Given the description of an element on the screen output the (x, y) to click on. 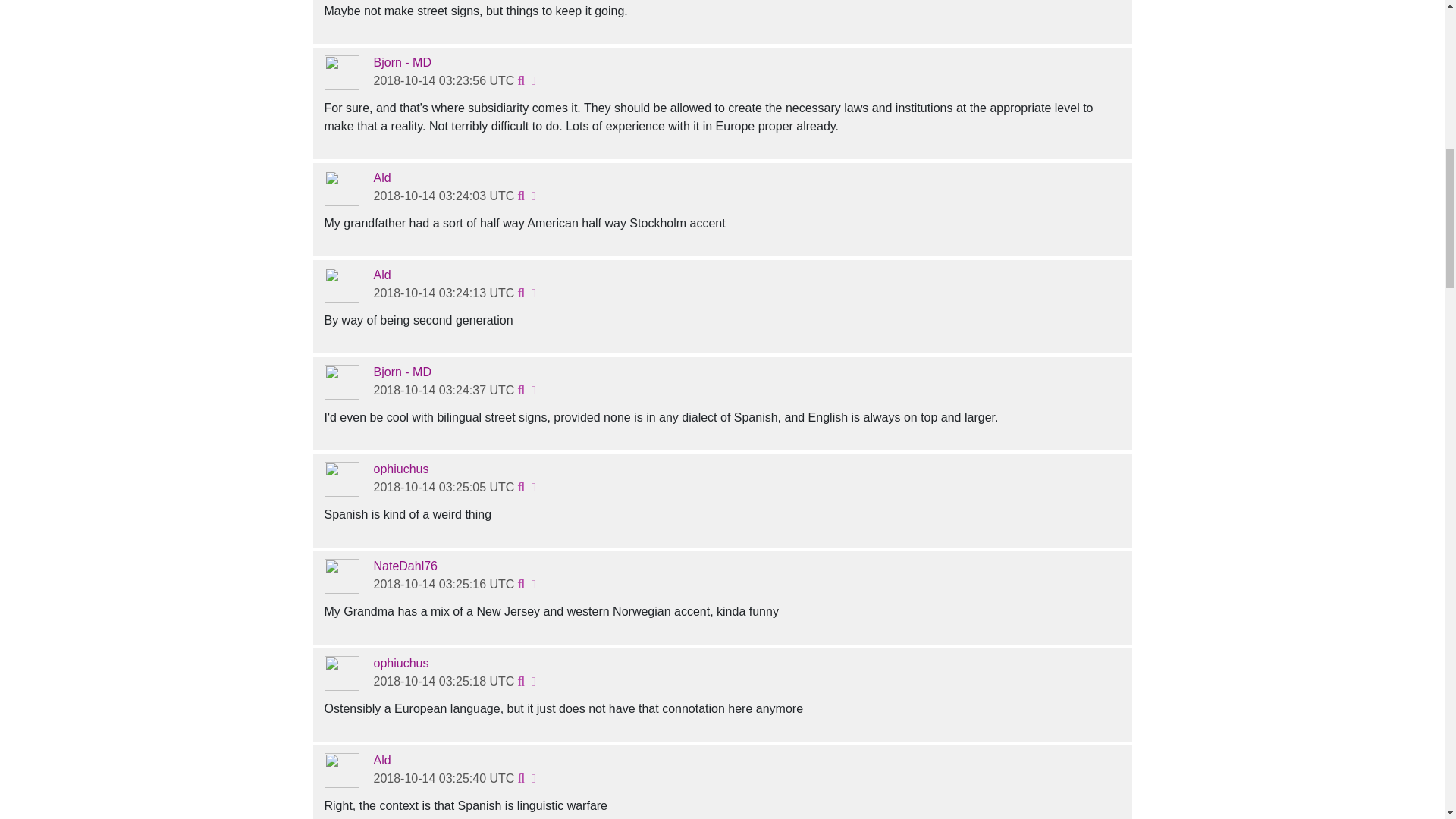
Bjorn - MD (401, 62)
Ald (381, 177)
